Given the description of an element on the screen output the (x, y) to click on. 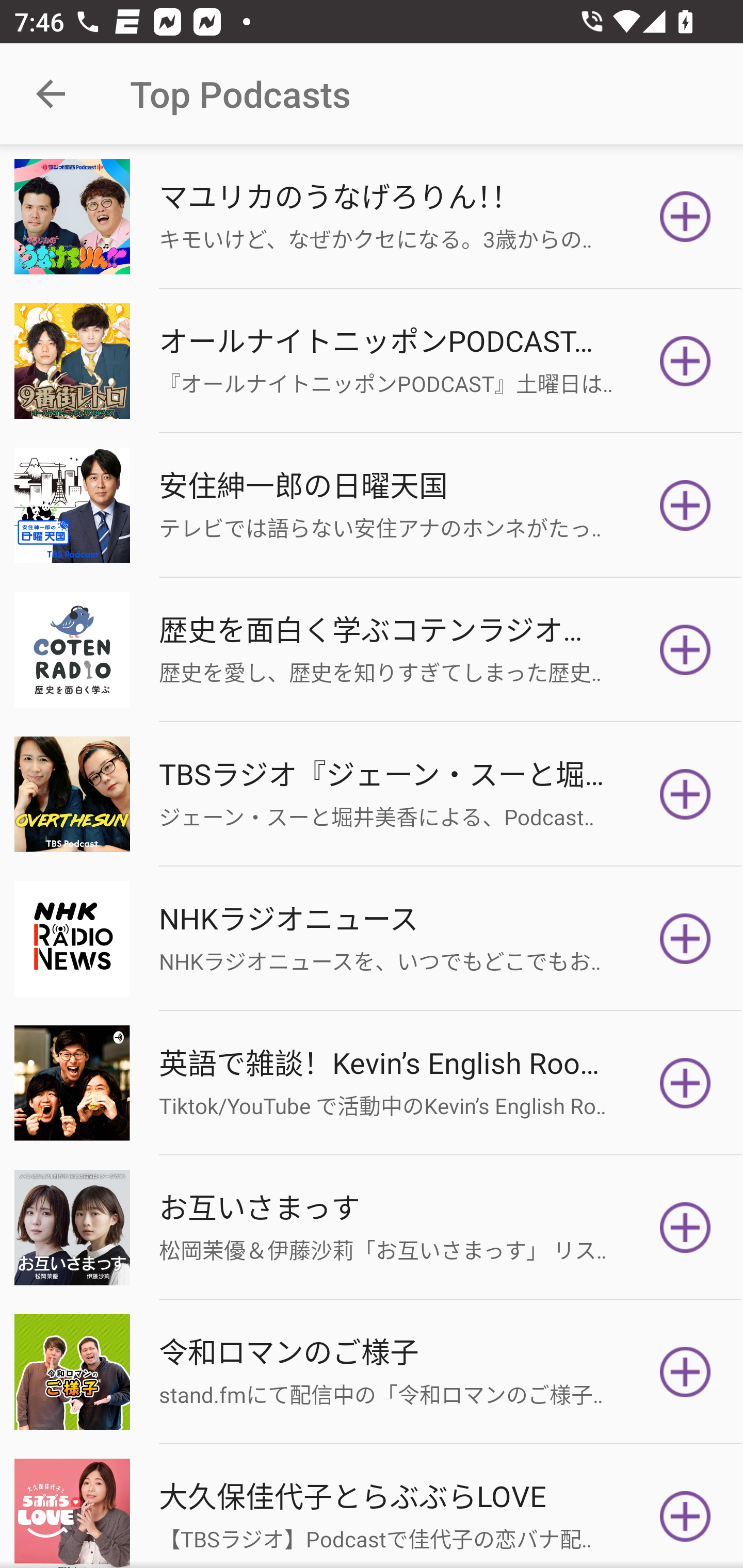
Navigate up (50, 93)
Subscribe (685, 216)
Subscribe (685, 360)
Subscribe (685, 505)
Subscribe (685, 649)
Subscribe (685, 793)
Subscribe (685, 939)
Subscribe (685, 1083)
Subscribe (685, 1227)
Subscribe (685, 1371)
Subscribe (685, 1513)
